Given the description of an element on the screen output the (x, y) to click on. 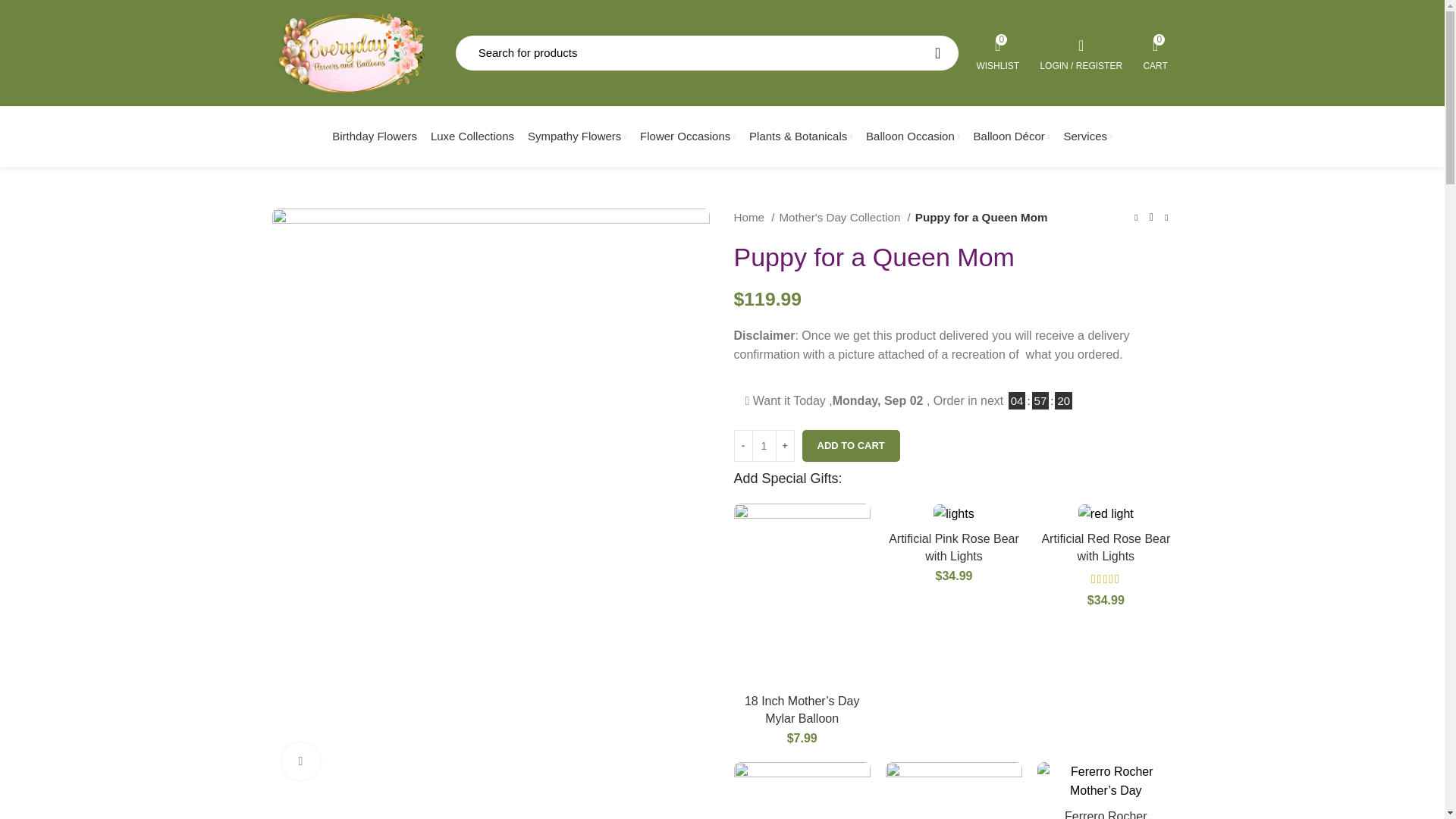
Birthday Flowers (373, 136)
SEARCH (937, 53)
Search for products (1155, 52)
My Wishlist (706, 53)
My account (997, 52)
Shopping cart (1080, 52)
Sympathy Flowers (997, 52)
Balloon Occasion (1155, 52)
